Given the description of an element on the screen output the (x, y) to click on. 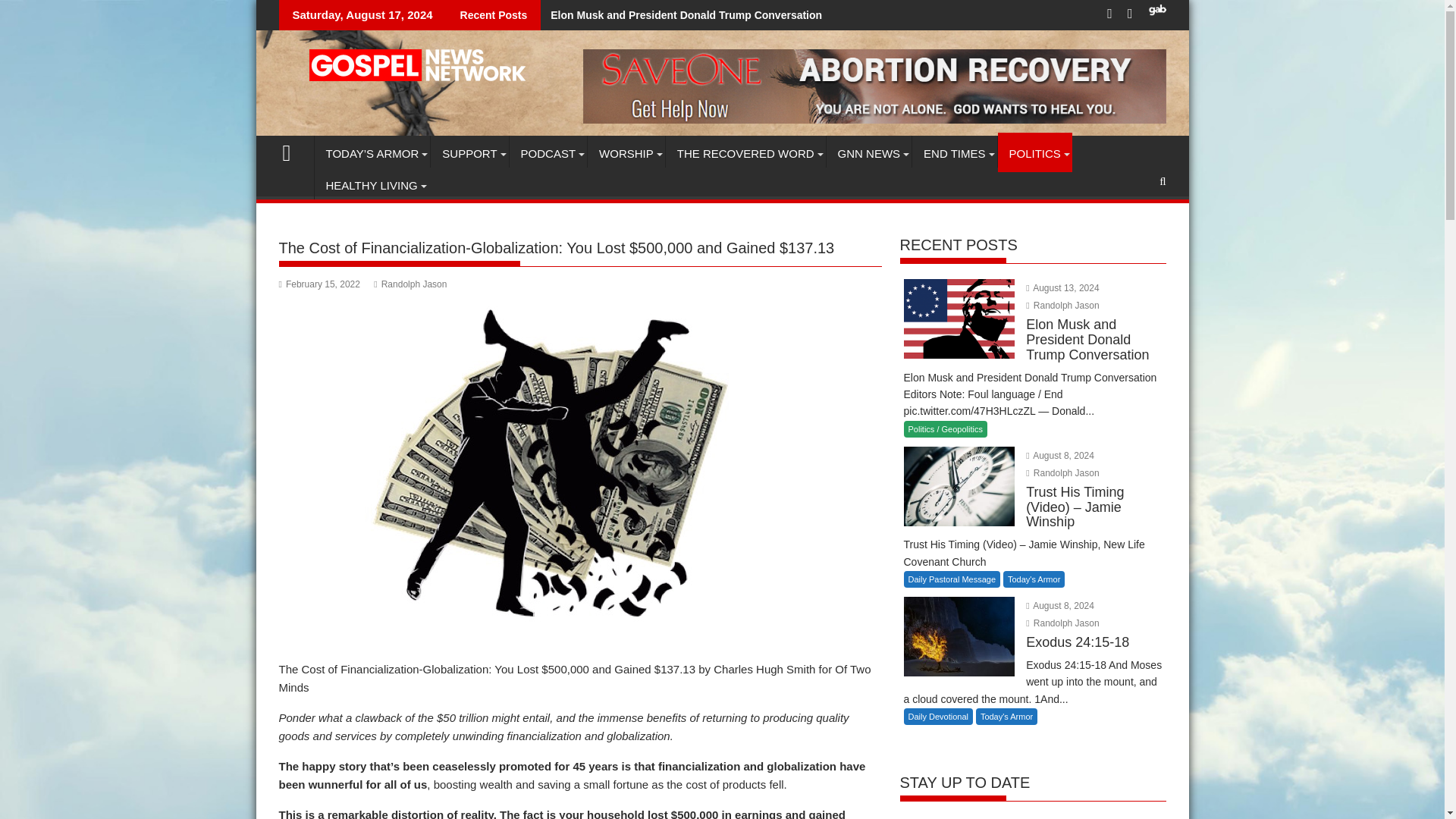
THE RECOVERED WORD (745, 153)
Elon Musk and President Donald Trump Conversation (681, 15)
Gospel News Network (293, 150)
END TIMES (953, 153)
WORSHIP (626, 153)
GNN NEWS (869, 153)
Elon Musk and President Donald Trump Conversation (681, 15)
PODCAST (548, 153)
